Given the description of an element on the screen output the (x, y) to click on. 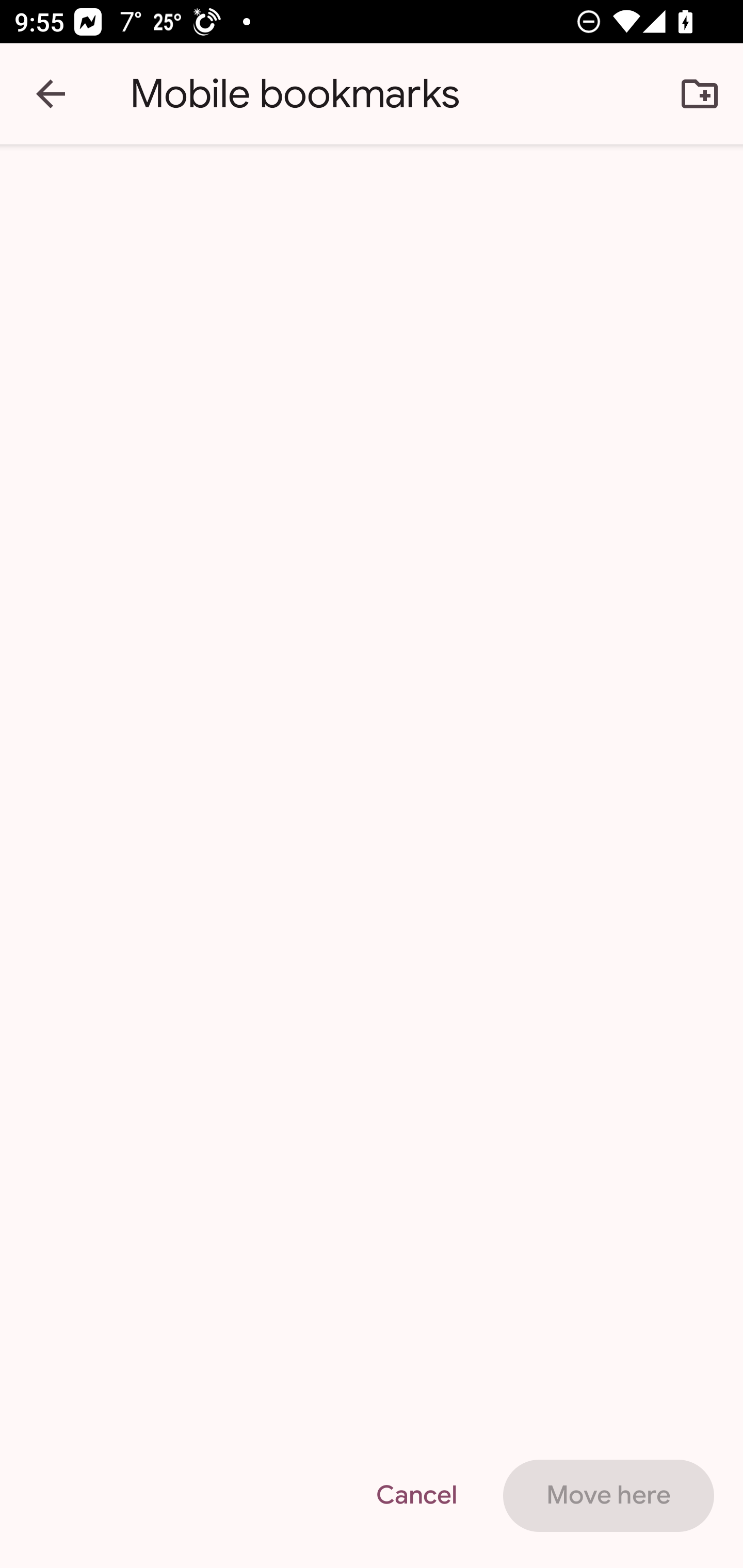
Navigate up (50, 93)
Create new folder (699, 93)
Cancel (415, 1495)
Move here (608, 1495)
